Given the description of an element on the screen output the (x, y) to click on. 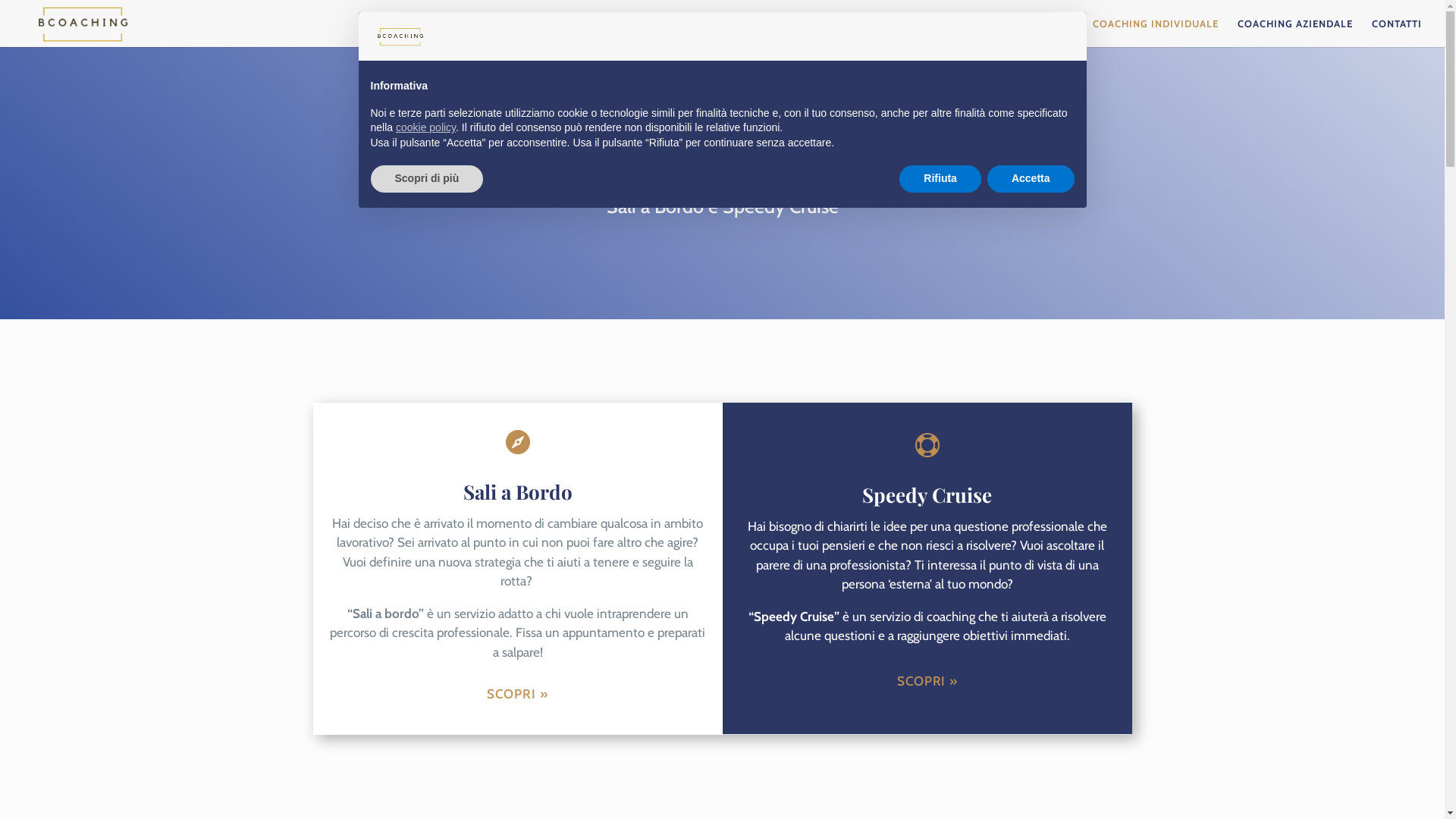
Rifiuta Element type: text (940, 178)
CONTATTI Element type: text (1396, 32)
COACHING INDIVIDUALE Element type: text (1155, 32)
COACHING AZIENDALE Element type: text (1294, 32)
HOME Element type: text (986, 32)
Accetta Element type: text (1030, 178)
cookie policy Element type: text (425, 127)
CHI SONO Element type: text (1047, 32)
